Given the description of an element on the screen output the (x, y) to click on. 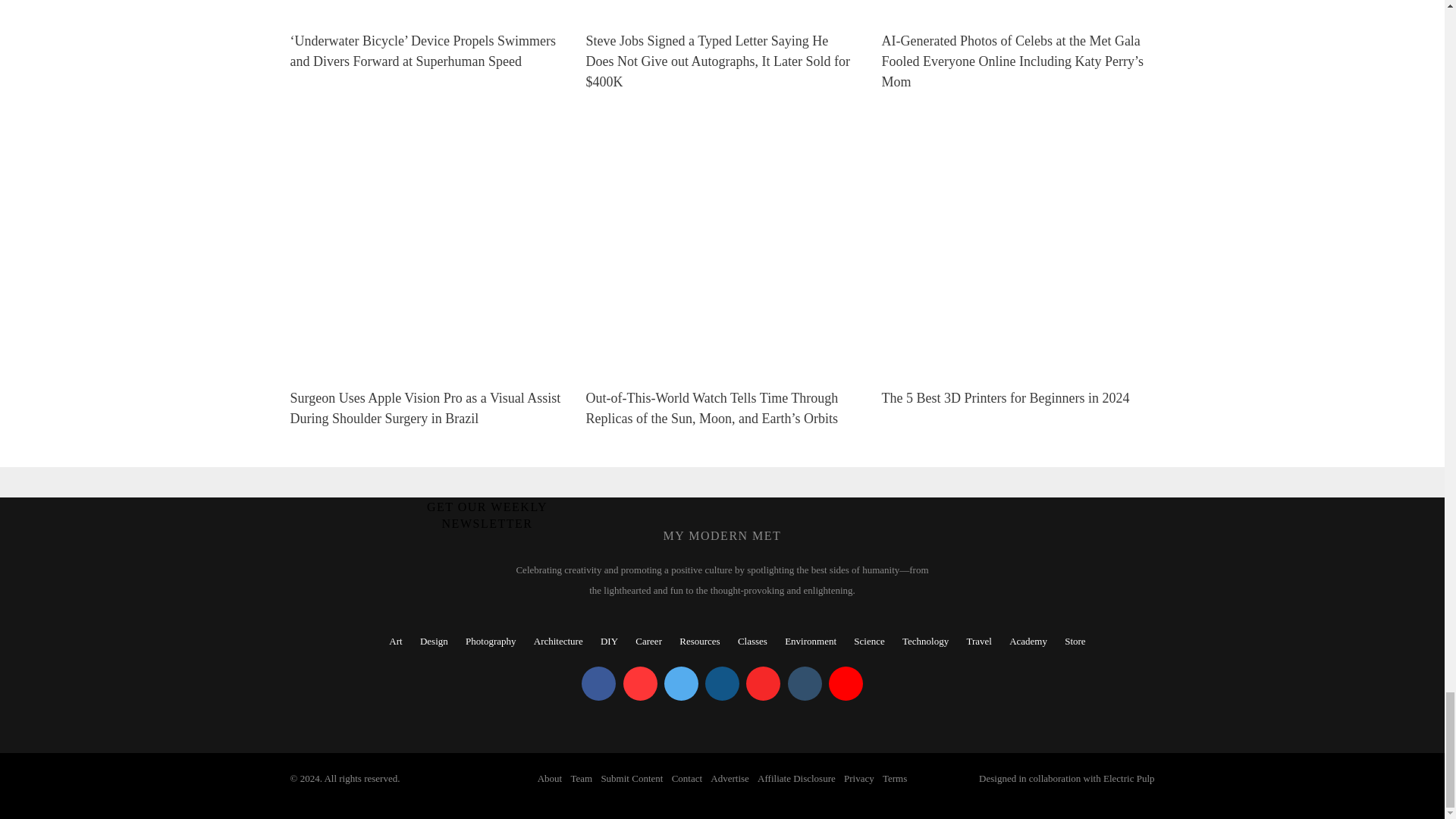
My Modern Met on Twitter (680, 683)
My Modern Met on YouTube (845, 683)
My Modern Met on Instagram (721, 683)
My Modern Met on Pinterest (640, 683)
My Modern Met on Facebook (597, 683)
My Modern Met on Tumblr (804, 683)
